Given the description of an element on the screen output the (x, y) to click on. 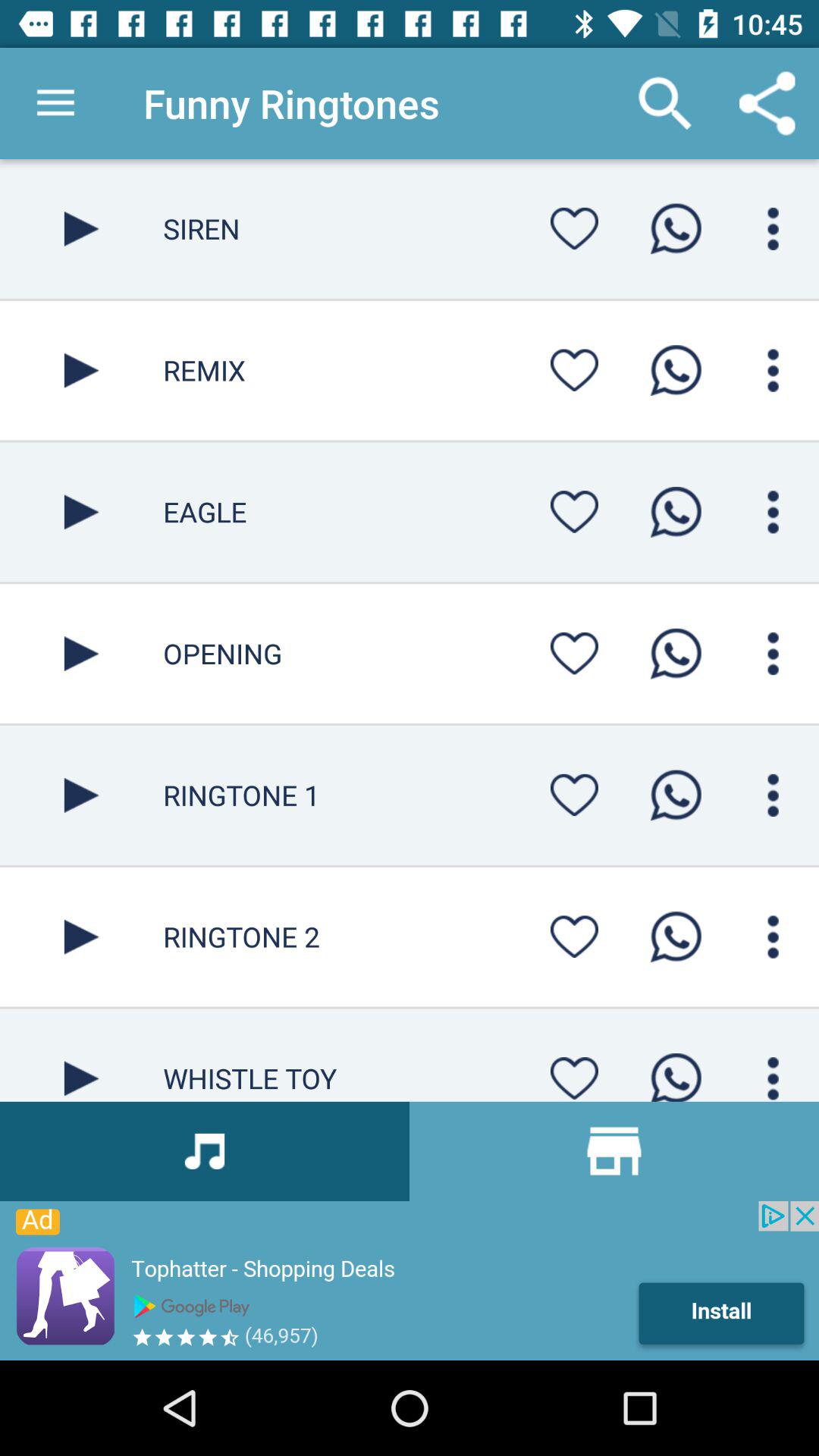
set as favorite (574, 511)
